Given the description of an element on the screen output the (x, y) to click on. 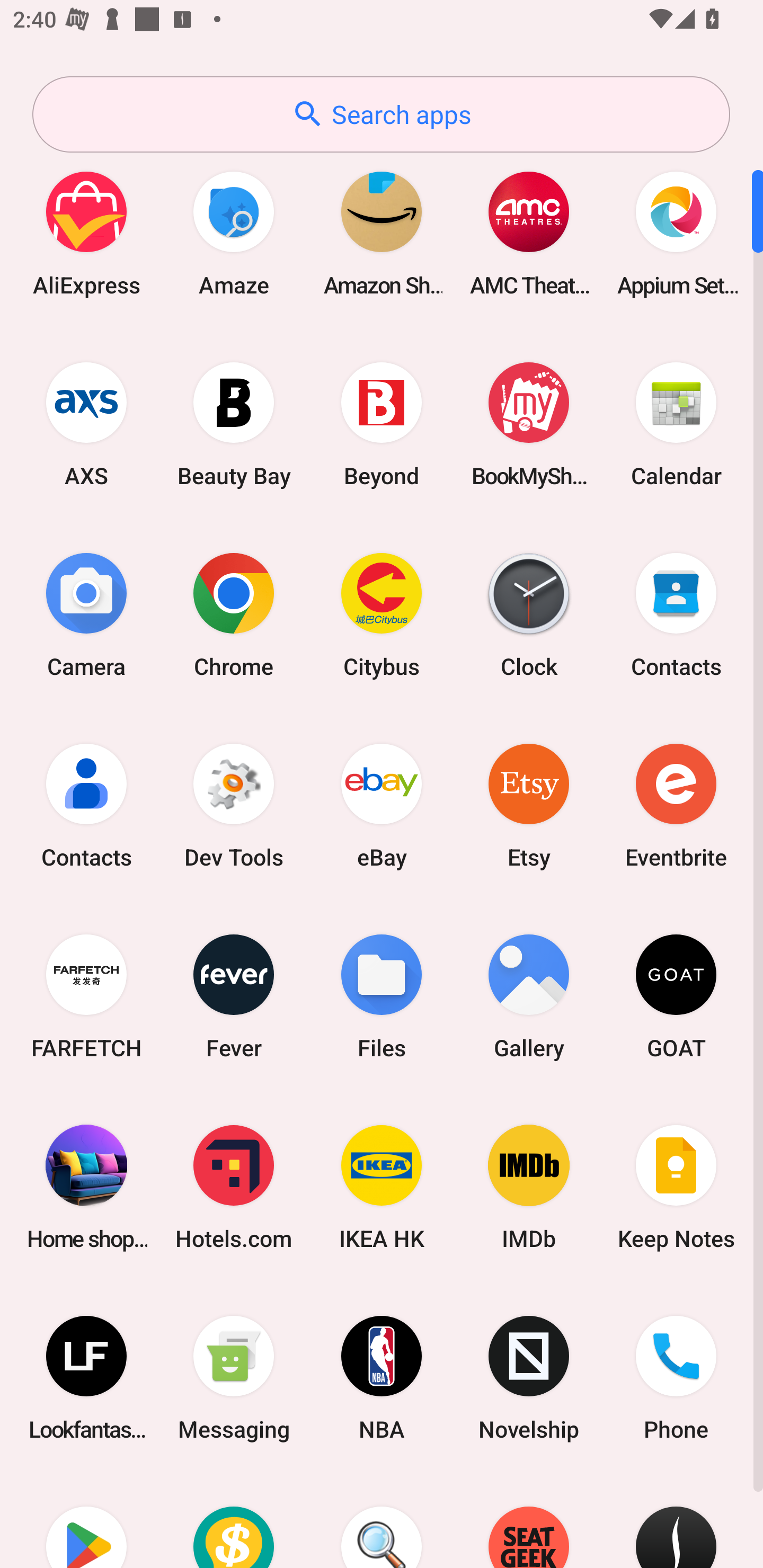
  Search apps (381, 114)
AliExpress (86, 233)
Amaze (233, 233)
Amazon Shopping (381, 233)
AMC Theatres (528, 233)
Appium Settings (676, 233)
AXS (86, 424)
Beauty Bay (233, 424)
Beyond (381, 424)
BookMyShow (528, 424)
Calendar (676, 424)
Camera (86, 614)
Chrome (233, 614)
Citybus (381, 614)
Clock (528, 614)
Contacts (676, 614)
Contacts (86, 805)
Dev Tools (233, 805)
eBay (381, 805)
Etsy (528, 805)
Eventbrite (676, 805)
FARFETCH (86, 996)
Fever (233, 996)
Files (381, 996)
Gallery (528, 996)
GOAT (676, 996)
Home shopping (86, 1186)
Hotels.com (233, 1186)
IKEA HK (381, 1186)
IMDb (528, 1186)
Keep Notes (676, 1186)
Lookfantastic (86, 1377)
Messaging (233, 1377)
NBA (381, 1377)
Novelship (528, 1377)
Phone (676, 1377)
Play Store (86, 1520)
Price (233, 1520)
Search (381, 1520)
SeatGeek (528, 1520)
Sephora (676, 1520)
